Given the description of an element on the screen output the (x, y) to click on. 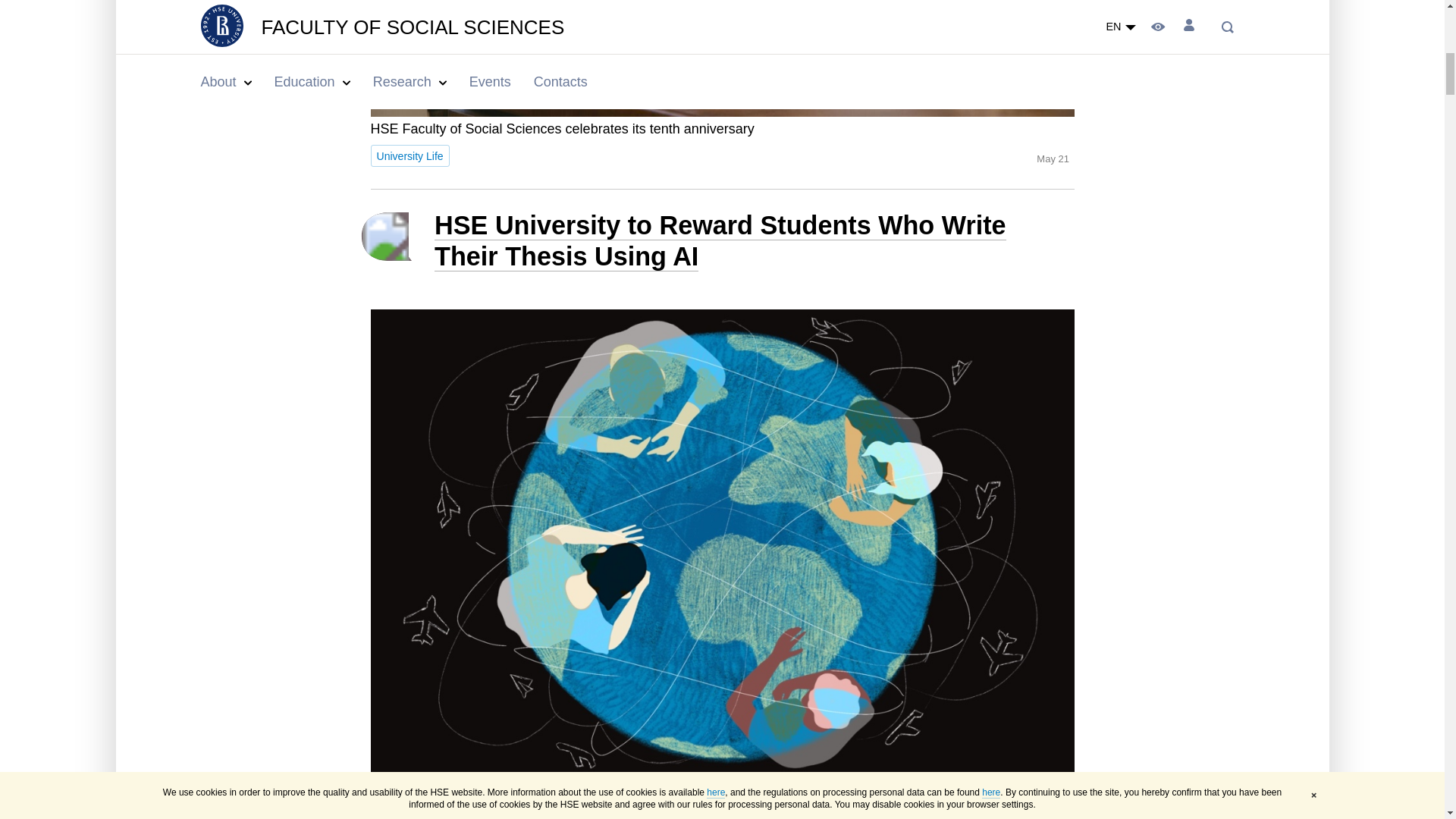
University Life (408, 155)
